Given the description of an element on the screen output the (x, y) to click on. 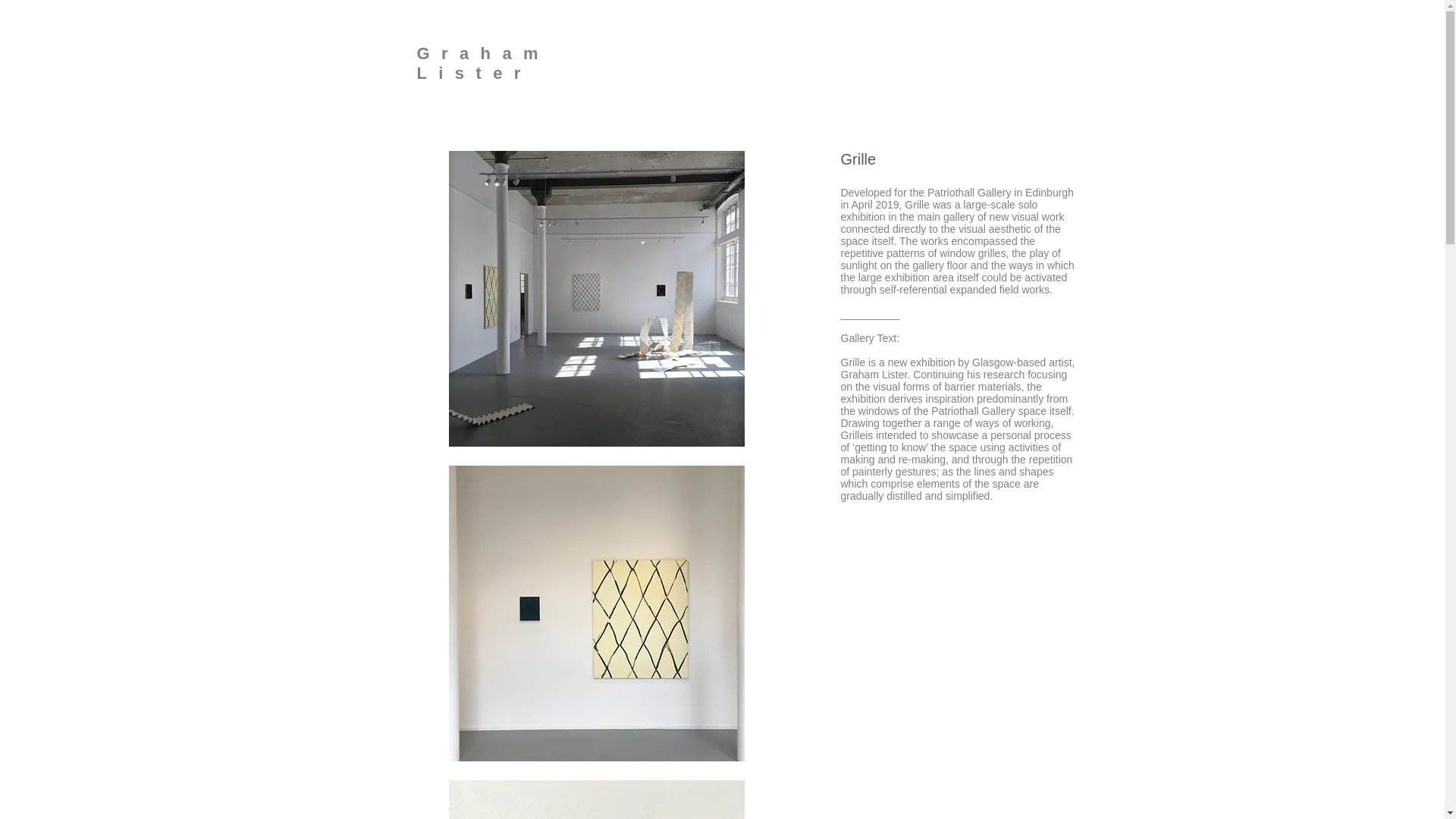
Graham (483, 53)
